Given the description of an element on the screen output the (x, y) to click on. 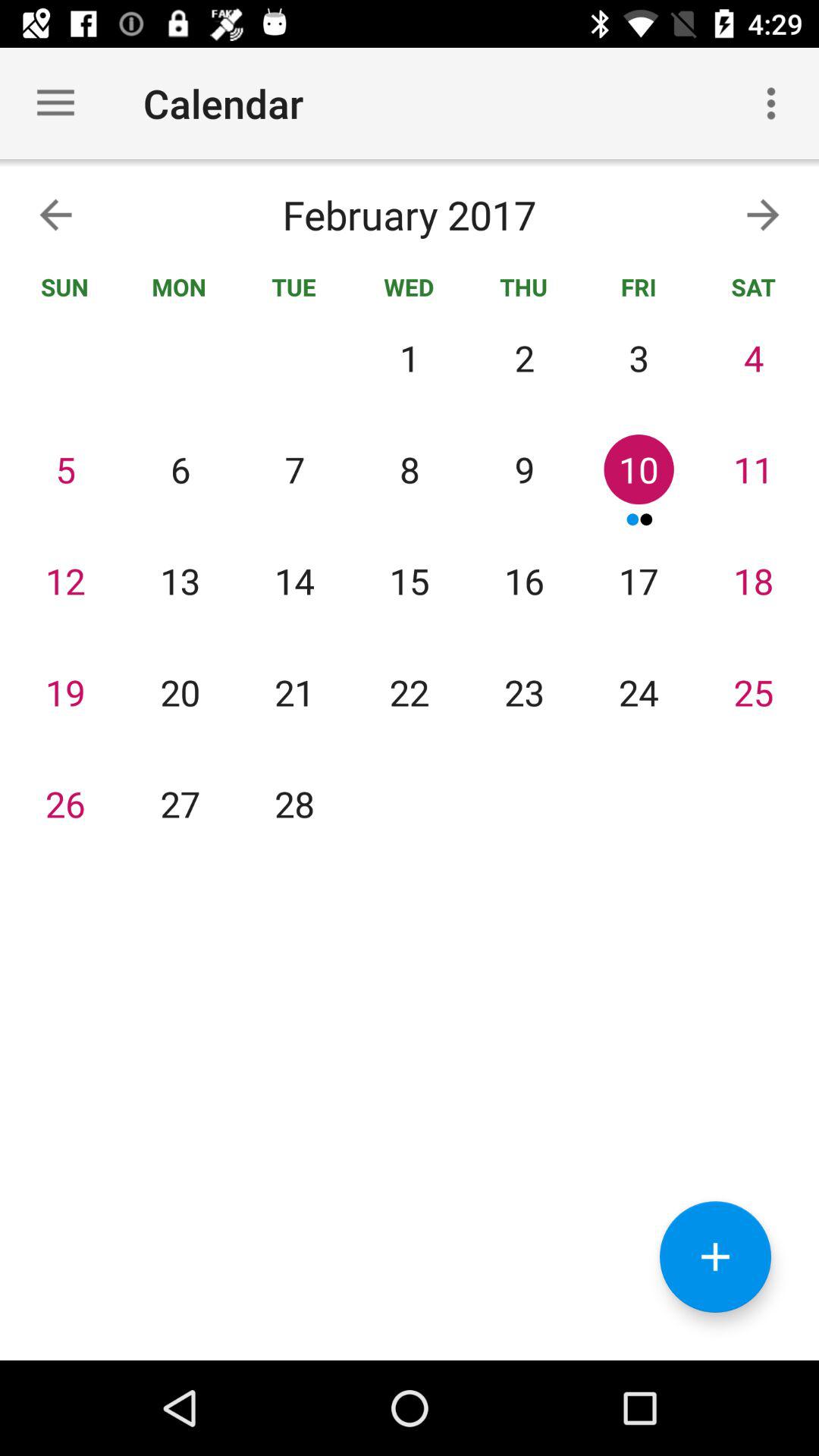
select the add option (715, 1256)
